Given the description of an element on the screen output the (x, y) to click on. 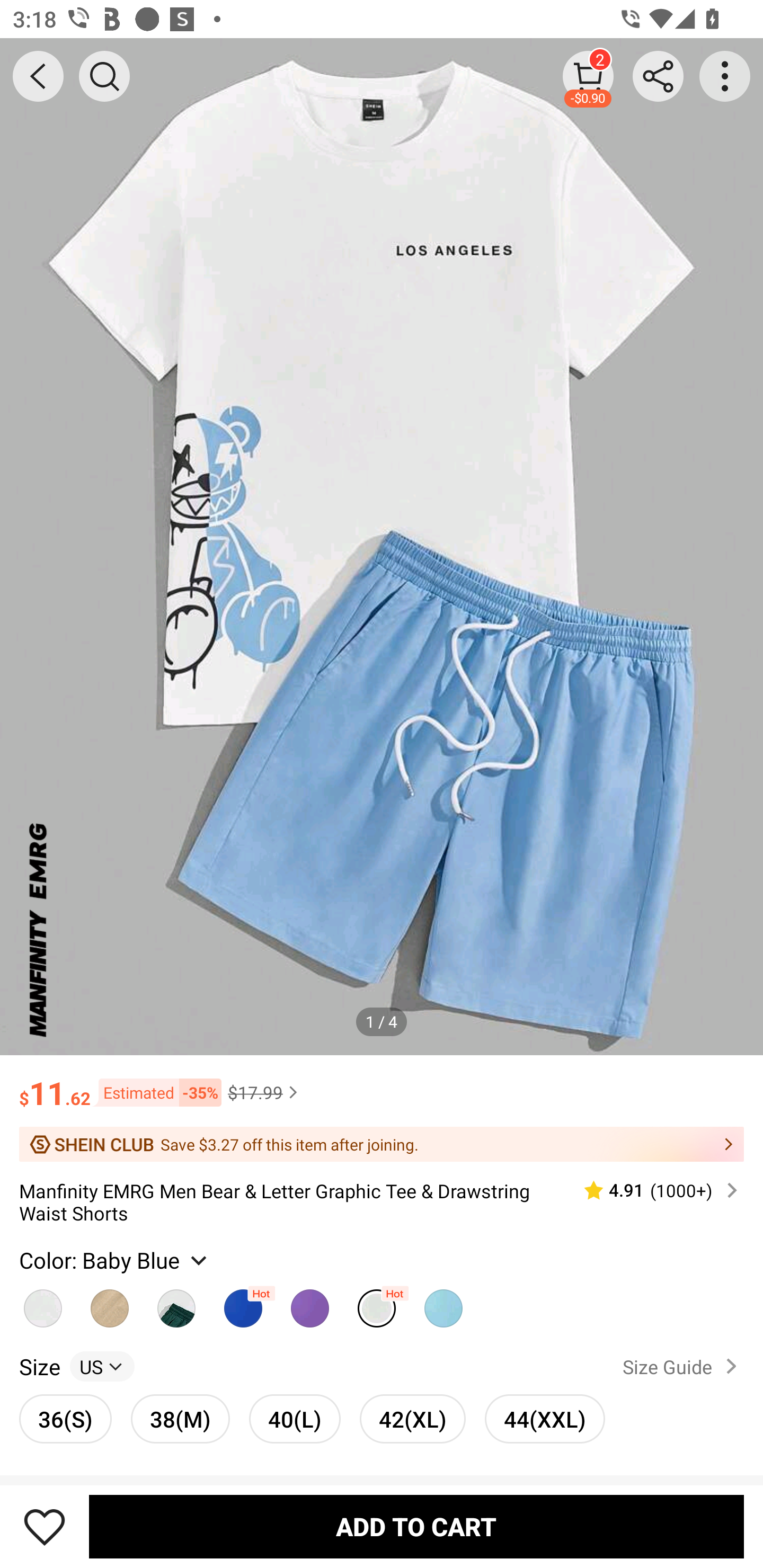
BACK (38, 75)
2 -$0.90 (588, 75)
1 / 4 (381, 1021)
Estimated -35% (155, 1092)
$17.99 (265, 1091)
Save $3.27 off this item after joining. (381, 1144)
4.91 (1000‎+) (653, 1189)
Color: Baby Blue (115, 1259)
Khaki (42, 1303)
Khaki (109, 1303)
Green (176, 1303)
Royal Blue (242, 1303)
Violet Purple (309, 1303)
Baby Blue (376, 1303)
Mint Blue (443, 1303)
Size (39, 1366)
US (102, 1366)
Size Guide (682, 1366)
36(S) 36(S)unselected option (65, 1418)
38(M) 38(M)unselected option (180, 1418)
40(L) 40(L)unselected option (294, 1418)
42(XL) 42(XL)unselected option (412, 1418)
44(XXL) 44(XXL)unselected option (544, 1418)
ADD TO CART (416, 1526)
Save (44, 1526)
